Given the description of an element on the screen output the (x, y) to click on. 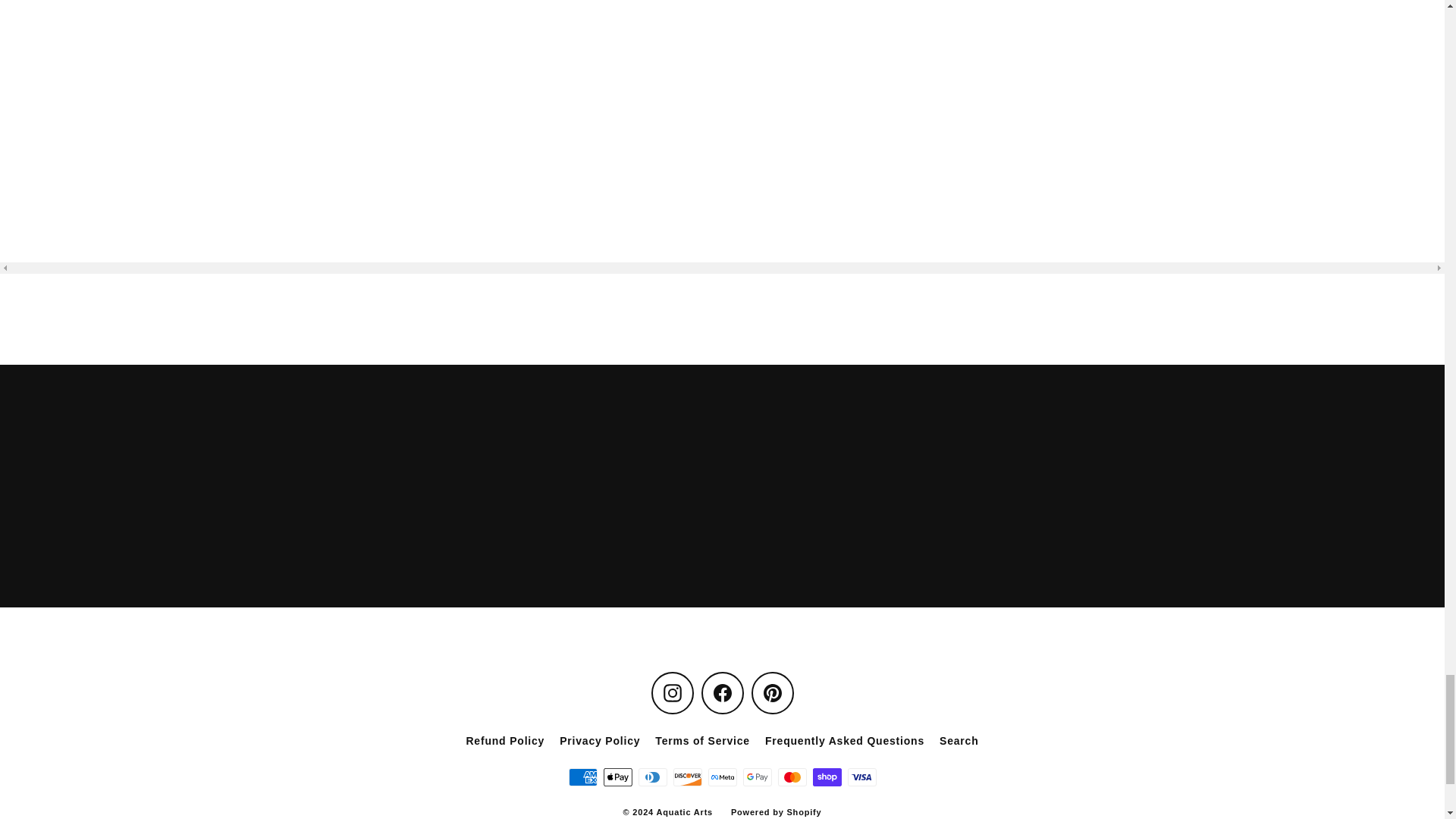
Diners Club (652, 777)
American Express (582, 777)
Aquatic Arts on Instagram (671, 692)
Apple Pay (617, 777)
Discover (686, 777)
Aquatic Arts on Pinterest (772, 692)
Aquatic Arts on Facebook (721, 692)
Meta Pay (721, 777)
